Given the description of an element on the screen output the (x, y) to click on. 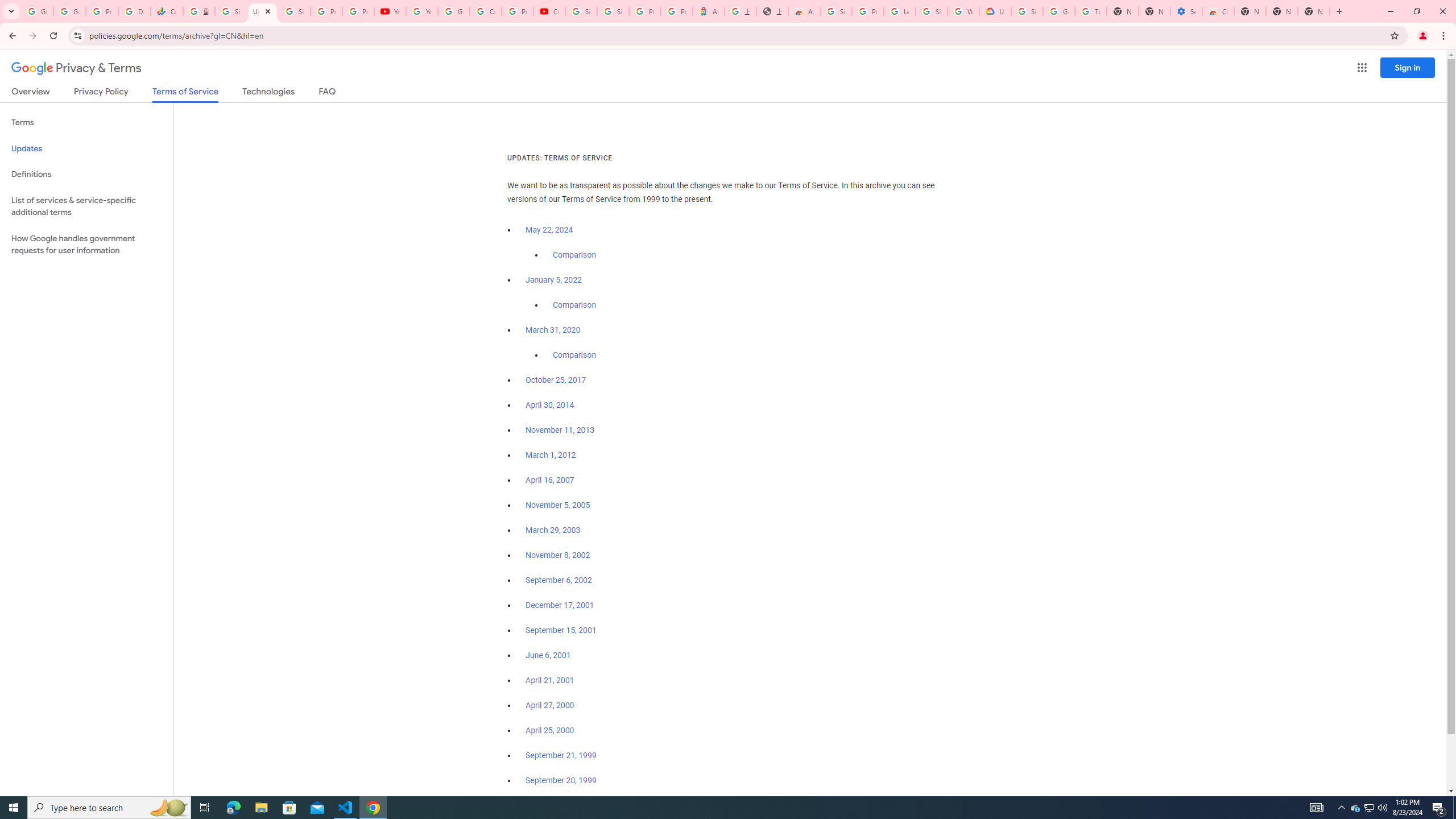
New Tab (1313, 11)
New Tab (1249, 11)
Turn cookies on or off - Computer - Google Account Help (1091, 11)
YouTube (421, 11)
